Given the description of an element on the screen output the (x, y) to click on. 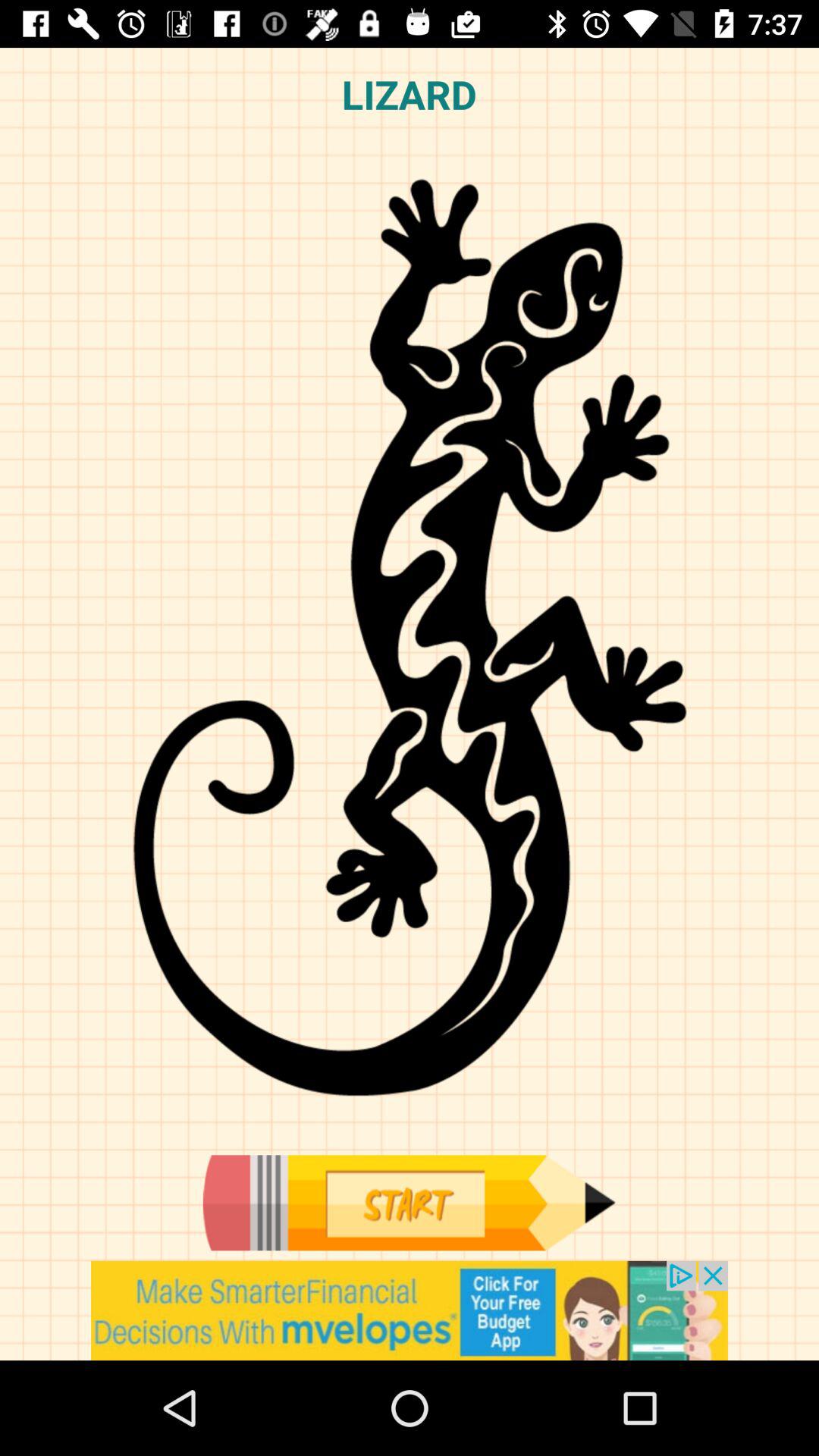
go to start (409, 1202)
